Given the description of an element on the screen output the (x, y) to click on. 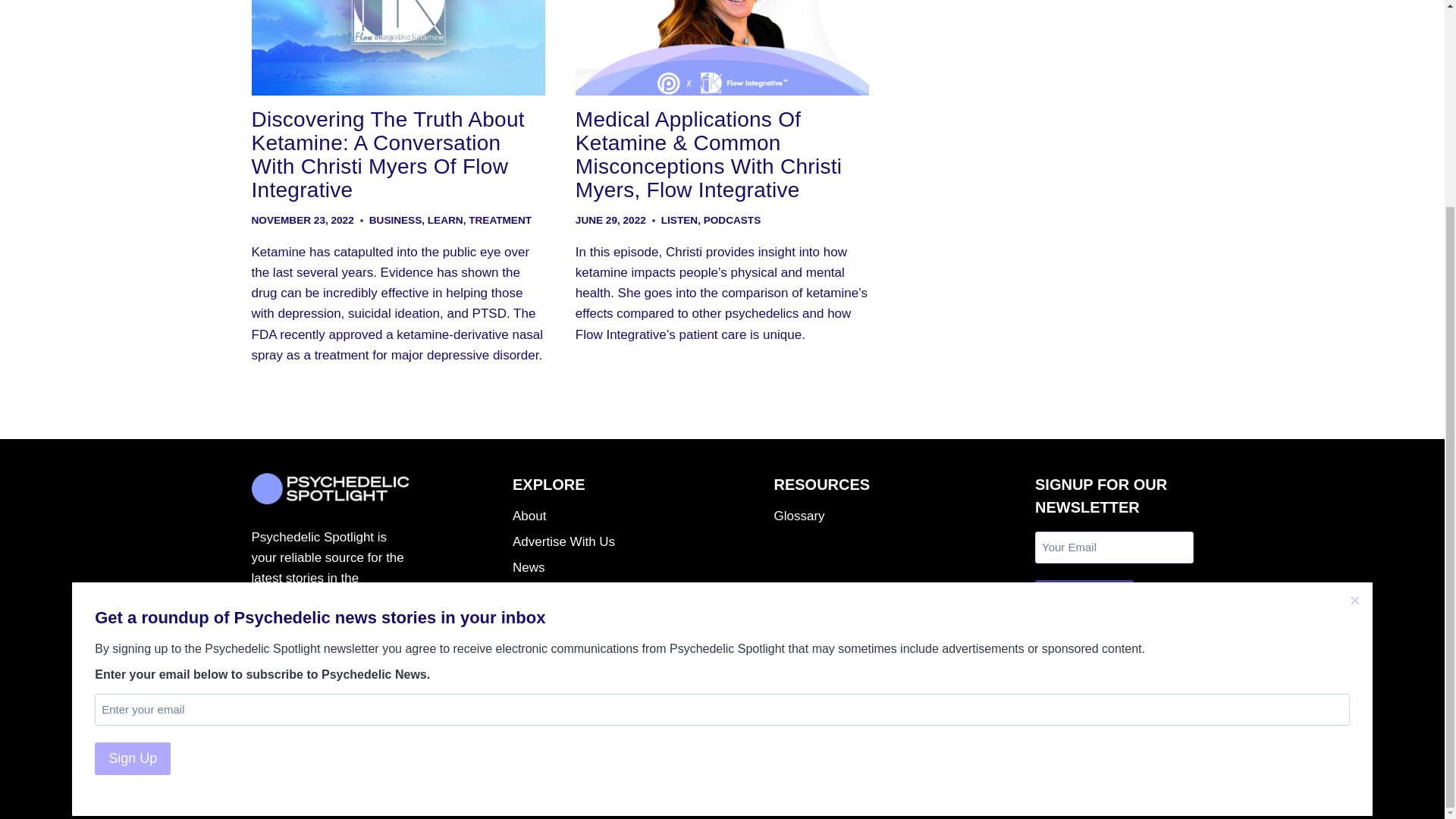
LISTEN (679, 220)
About (591, 516)
PODCASTS (732, 220)
BUSINESS (395, 220)
Sign Up (132, 491)
Advertiser Terms and Conditions (591, 631)
Yes, Please (1084, 595)
Advertise With Us (591, 542)
TREATMENT (499, 220)
LEARN (445, 220)
Yes, Please (1084, 595)
Sign Up (132, 491)
Privacy Policy (591, 593)
Glossary (852, 516)
